Given the description of an element on the screen output the (x, y) to click on. 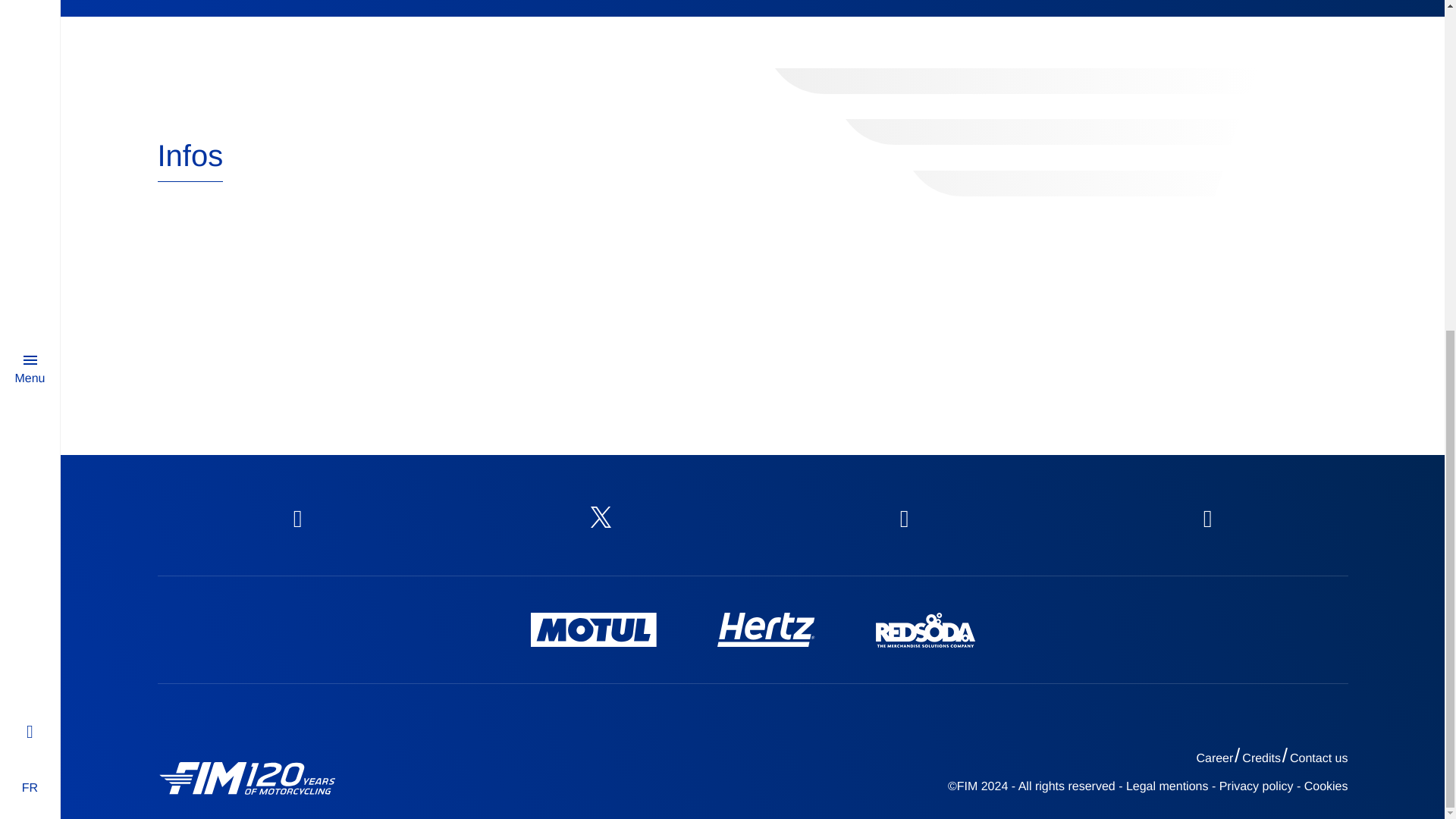
Infos (190, 160)
